Given the description of an element on the screen output the (x, y) to click on. 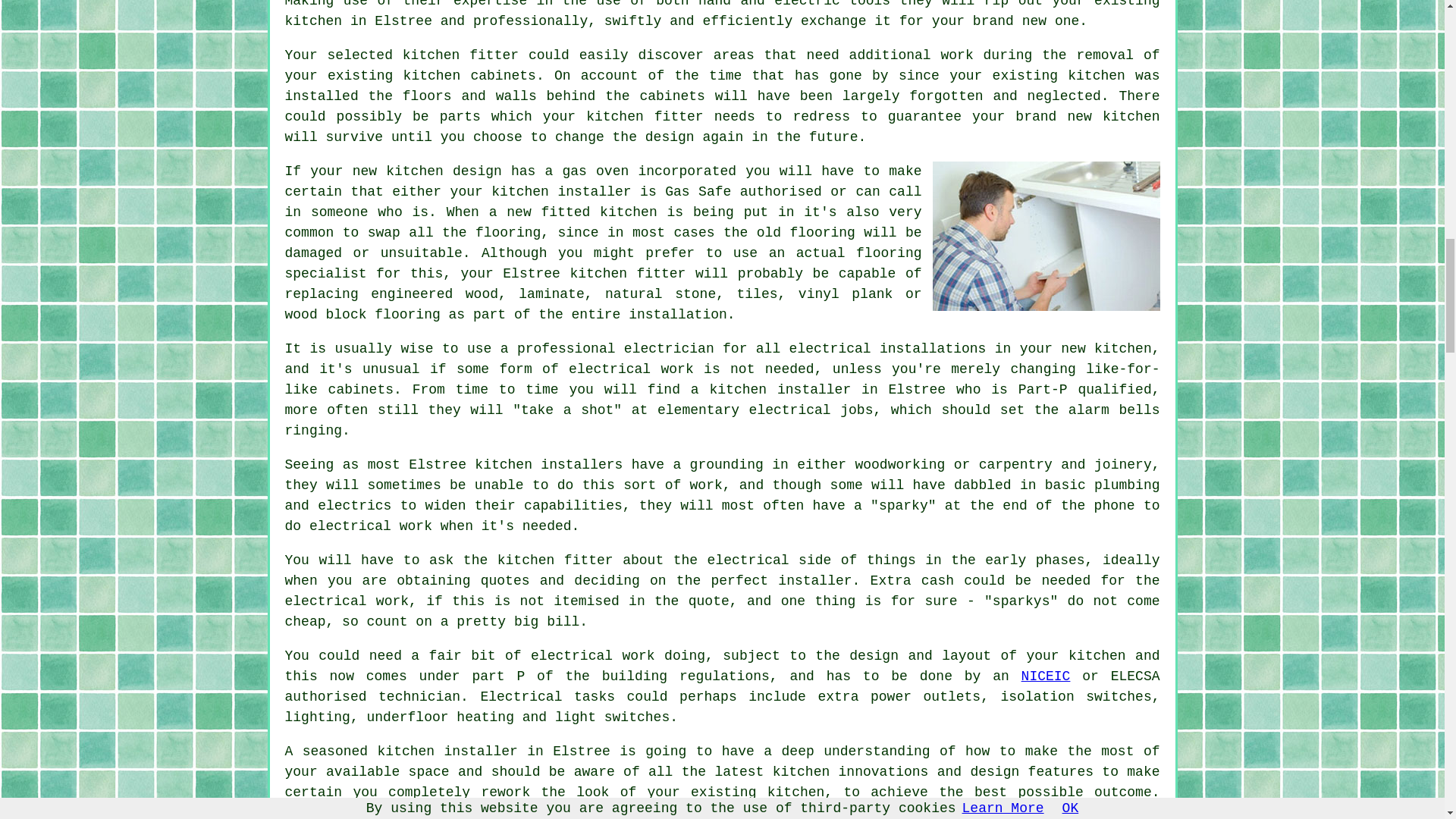
kitchen fitter (644, 116)
kitchen (313, 20)
power outlets (924, 696)
kitchen cabinets (469, 75)
kitchen (493, 812)
installations (932, 348)
